Given the description of an element on the screen output the (x, y) to click on. 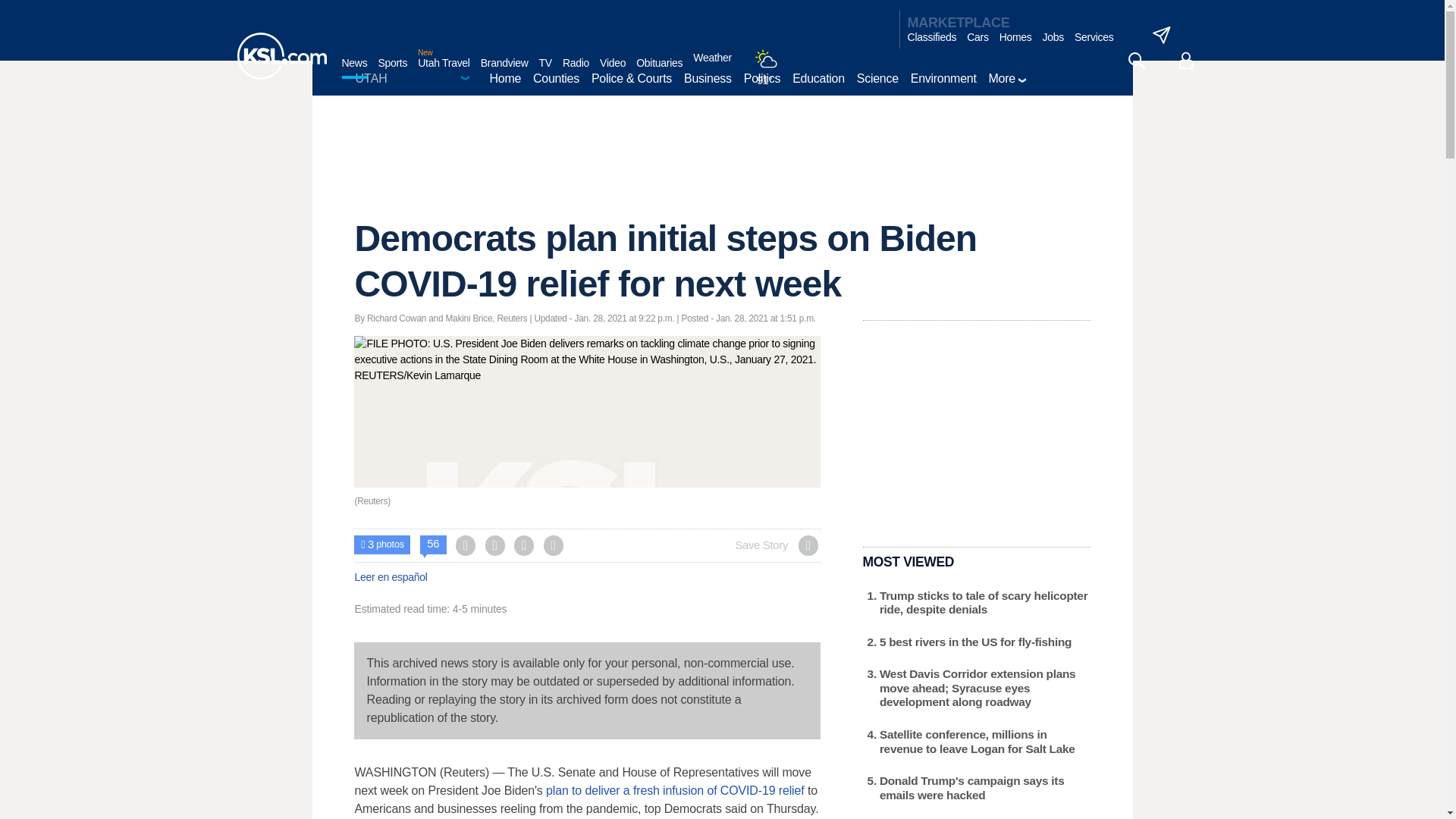
KSL homepage (280, 55)
search (1135, 60)
account - logged out (1185, 60)
